Given the description of an element on the screen output the (x, y) to click on. 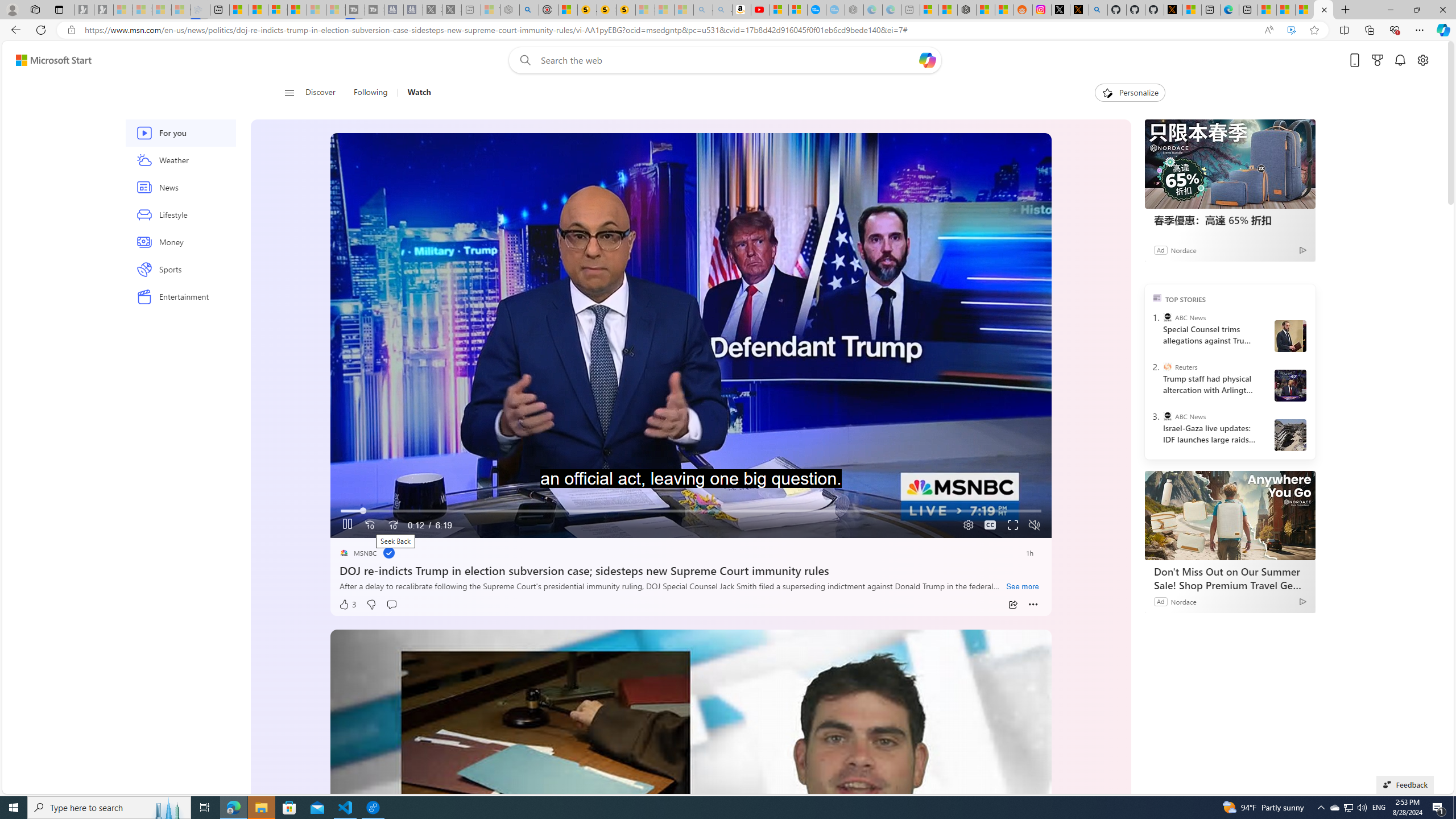
Seek Back (369, 525)
Skip to content (49, 59)
amazon - Search - Sleeping (702, 9)
X Privacy Policy (1173, 9)
Personalize (1129, 92)
Feedback (1404, 784)
